Given the description of an element on the screen output the (x, y) to click on. 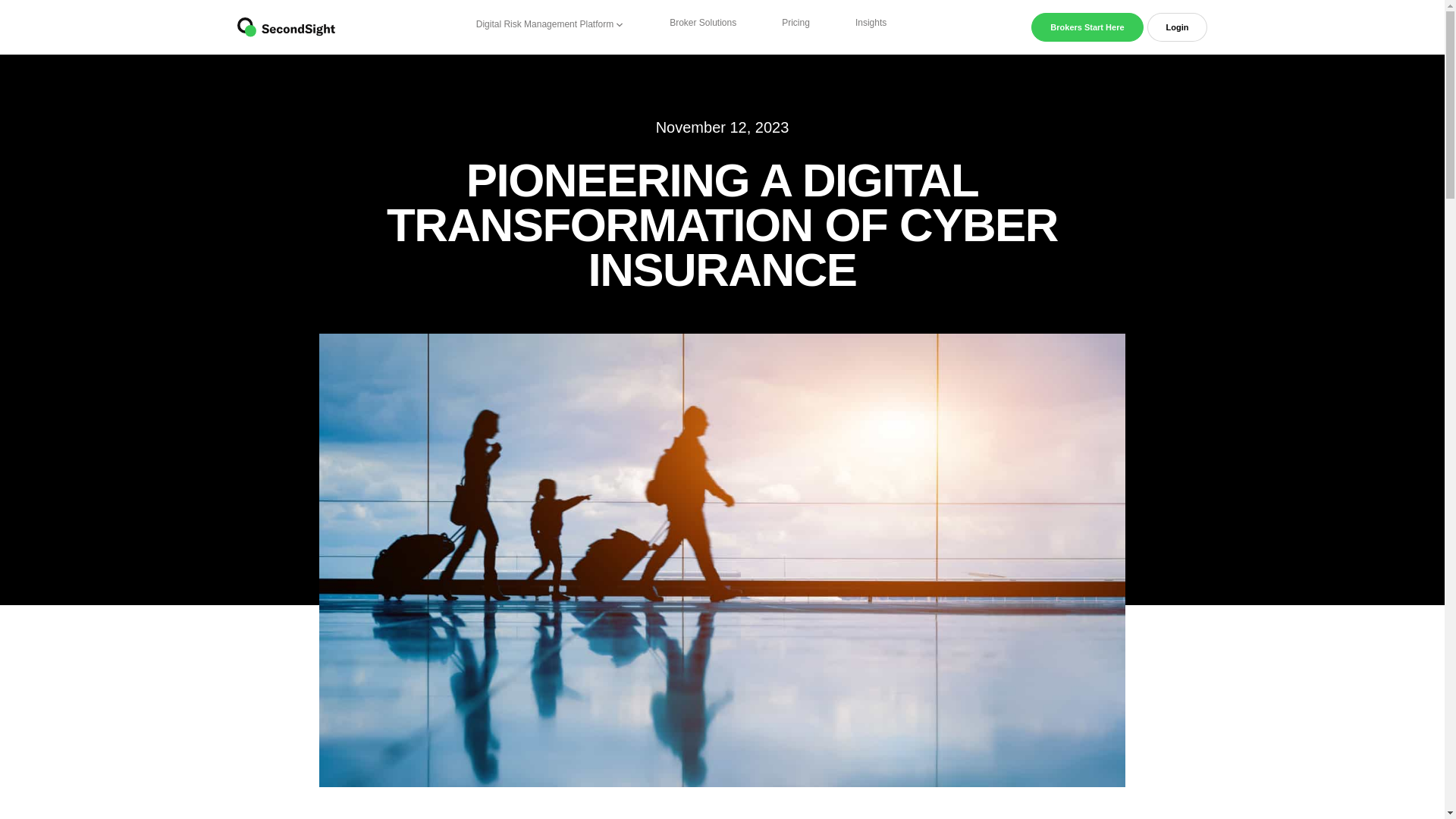
Insights (870, 22)
Brokers Start Here (1086, 27)
Login (1177, 27)
Broker Solutions (703, 22)
Digital Risk Management Platform (549, 23)
Pricing (795, 22)
